Given the description of an element on the screen output the (x, y) to click on. 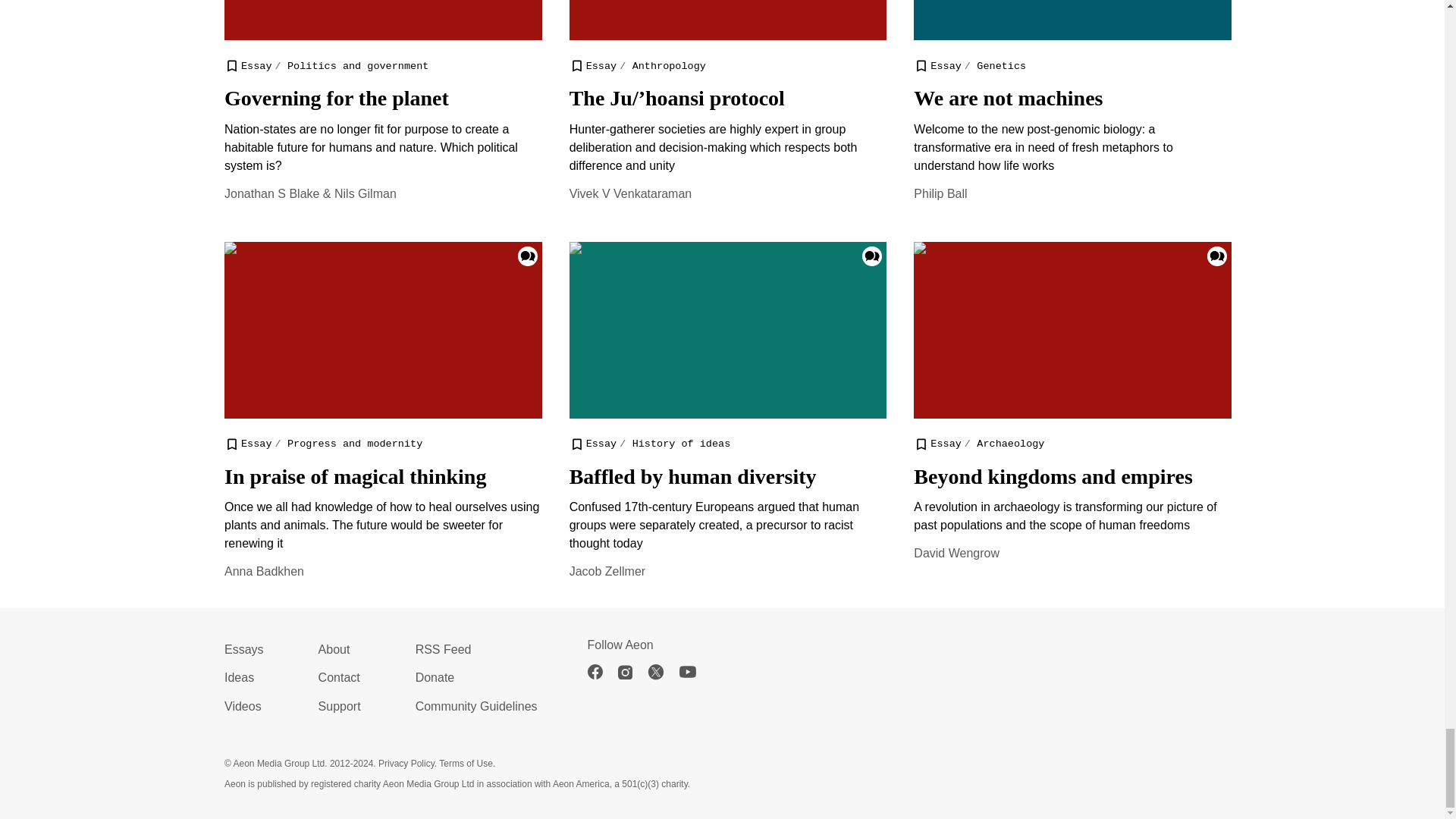
Facebook (602, 671)
YouTube (695, 671)
Instagram (632, 671)
